Given the description of an element on the screen output the (x, y) to click on. 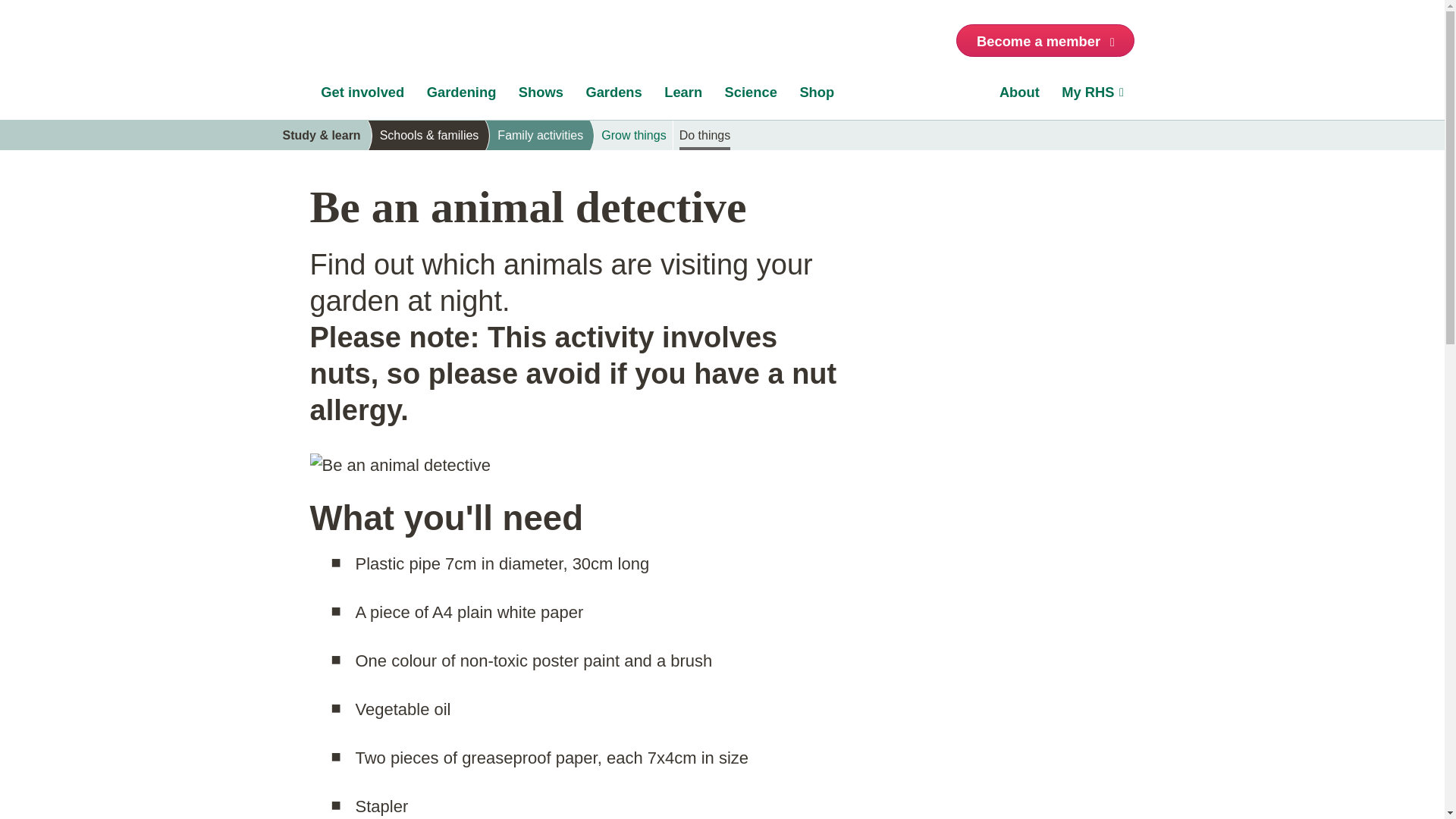
Shop (817, 96)
My RHS (1093, 96)
About (1018, 96)
Become a member (1045, 40)
Shows (540, 96)
Home (353, 43)
Gardening (460, 96)
Gardens (614, 96)
Science (751, 96)
Get involved (361, 96)
